Given the description of an element on the screen output the (x, y) to click on. 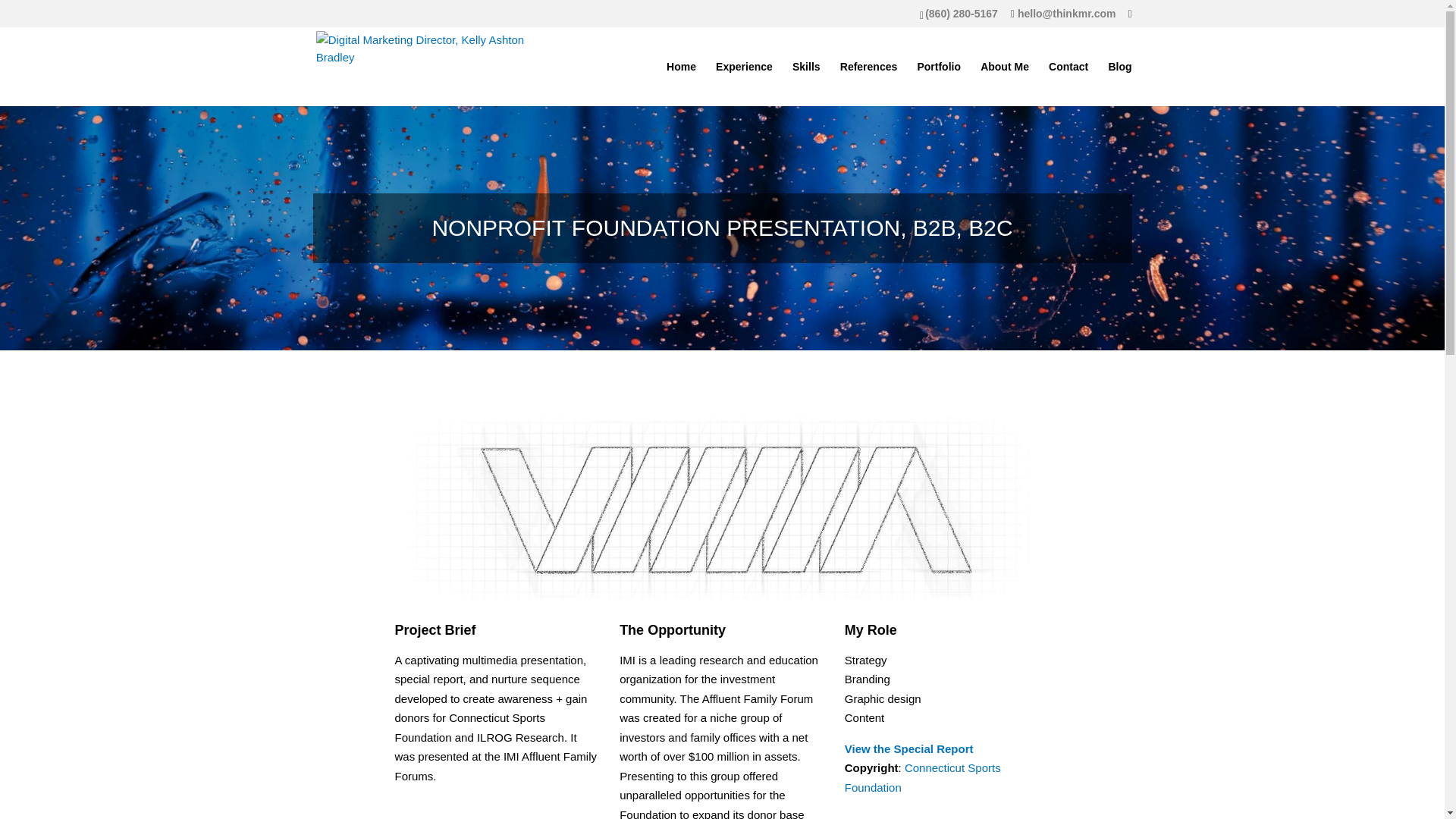
View the Special Report (909, 748)
Experience (744, 83)
Connecticut Sports Foundation (922, 777)
Portfolio (938, 83)
References (869, 83)
About Me (1004, 83)
